Given the description of an element on the screen output the (x, y) to click on. 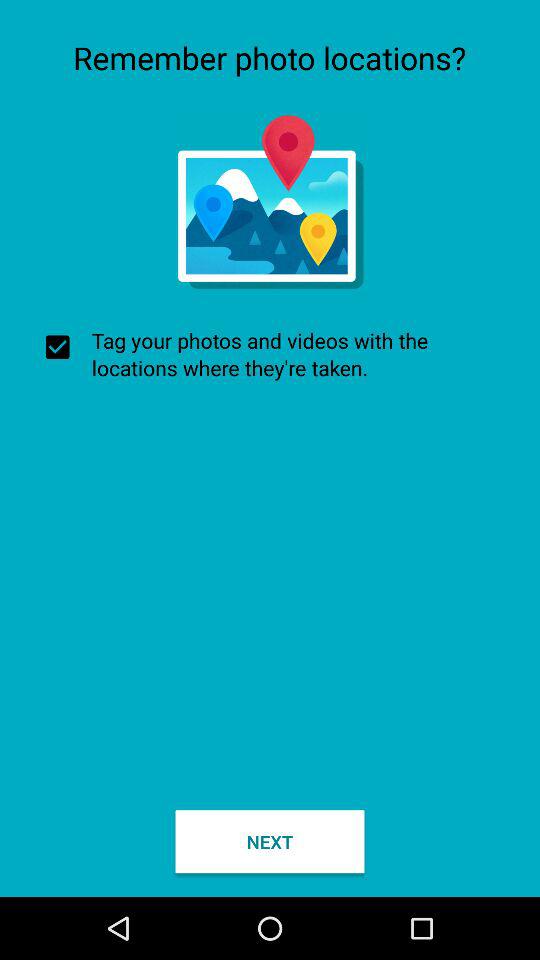
flip to the tag your photos checkbox (269, 354)
